Given the description of an element on the screen output the (x, y) to click on. 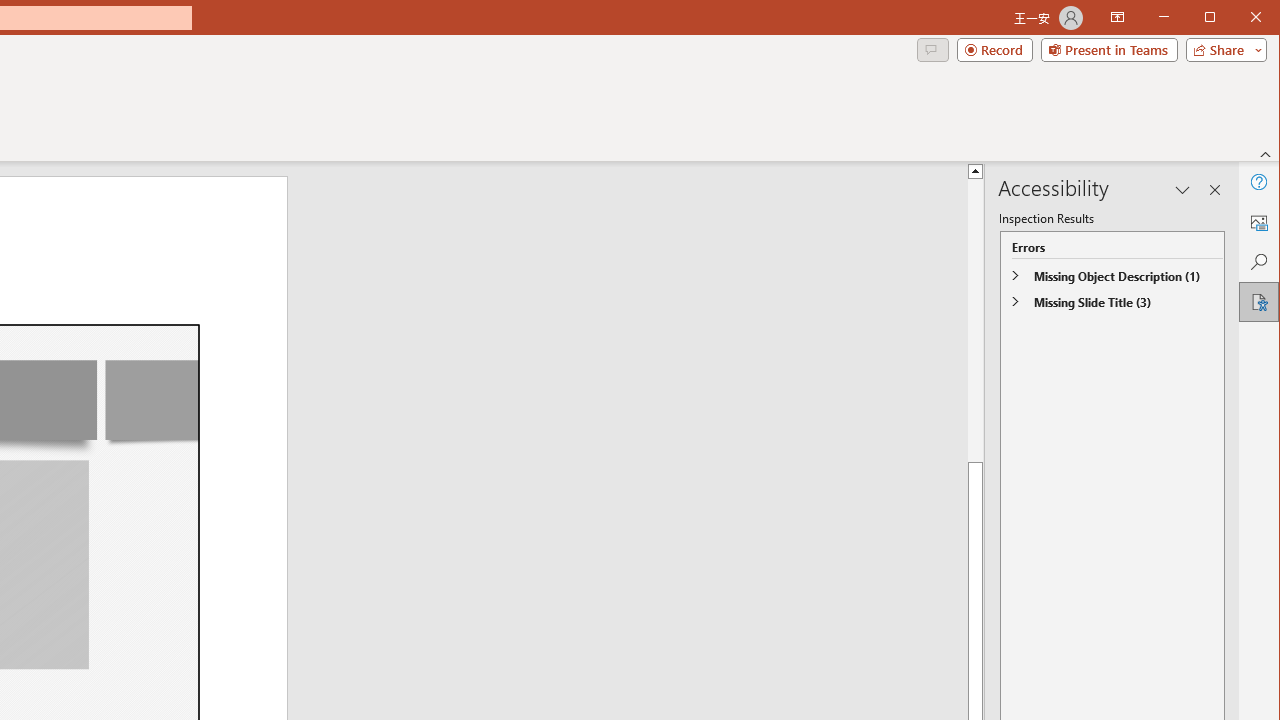
Page up (1230, 320)
Close pane (1215, 189)
Line up (1230, 170)
Alt Text (1258, 221)
Task Pane Options (1183, 189)
